Given the description of an element on the screen output the (x, y) to click on. 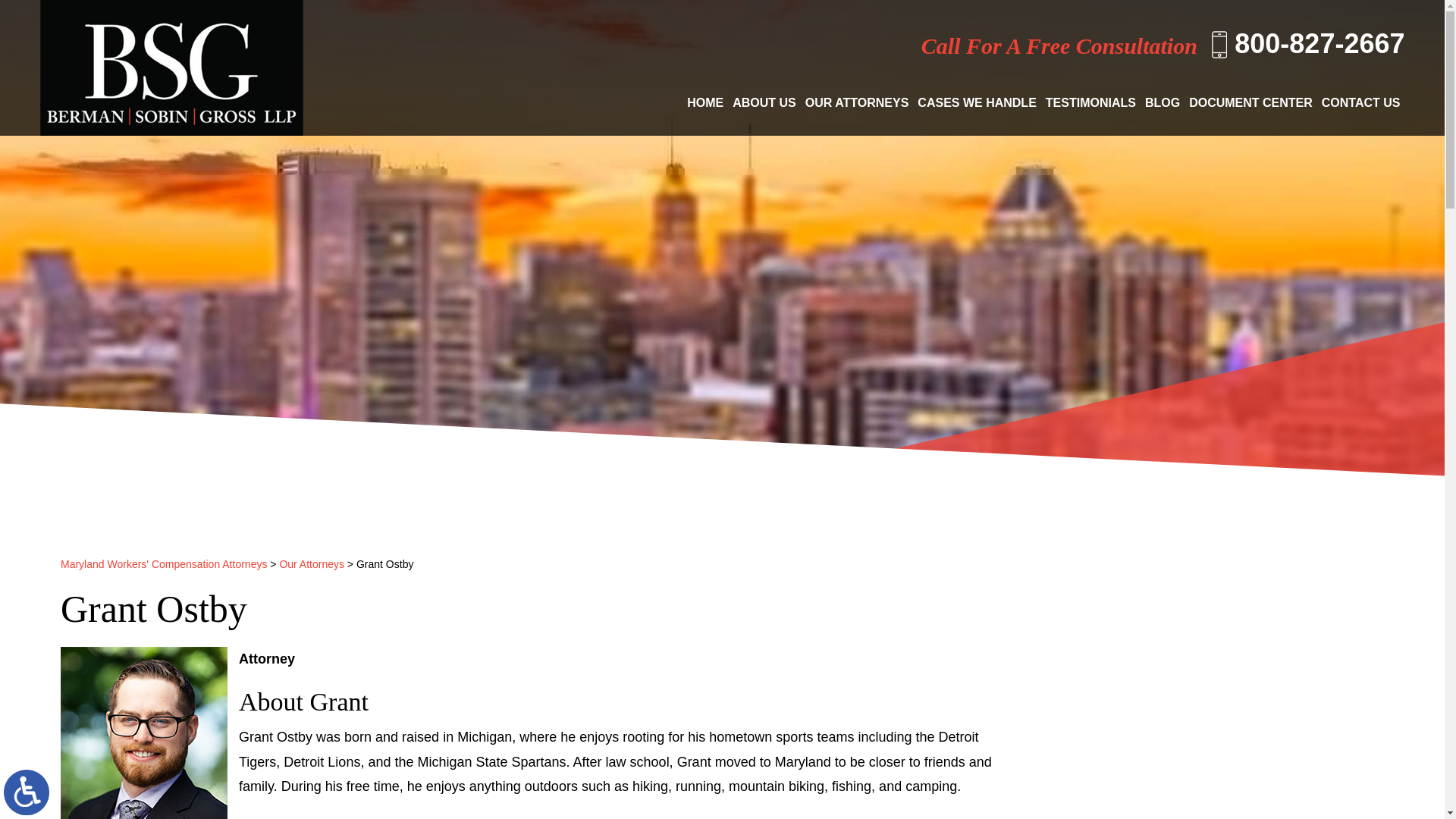
CASES WE HANDLE (976, 102)
Grant Ostby (144, 733)
HOME (705, 102)
Switch to ADA Accessible Theme (26, 791)
ABOUT US (764, 102)
OUR ATTORNEYS (857, 102)
800-827-2667 (1308, 43)
